Given the description of an element on the screen output the (x, y) to click on. 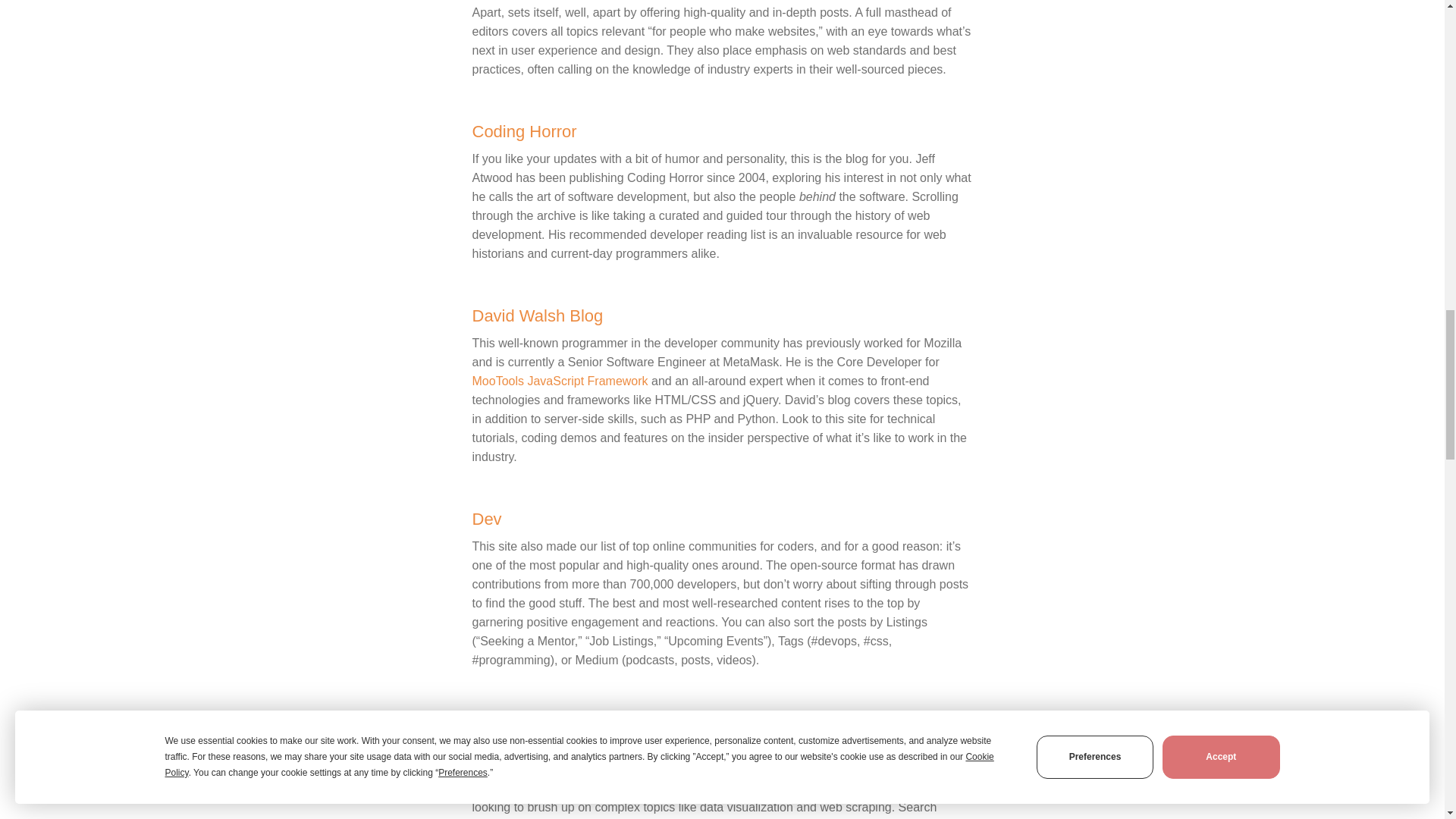
MooTools JavaScript Framework (559, 380)
Real Python (516, 722)
Coding Horror (523, 131)
Dev (485, 518)
David Walsh Blog (536, 315)
